Given the description of an element on the screen output the (x, y) to click on. 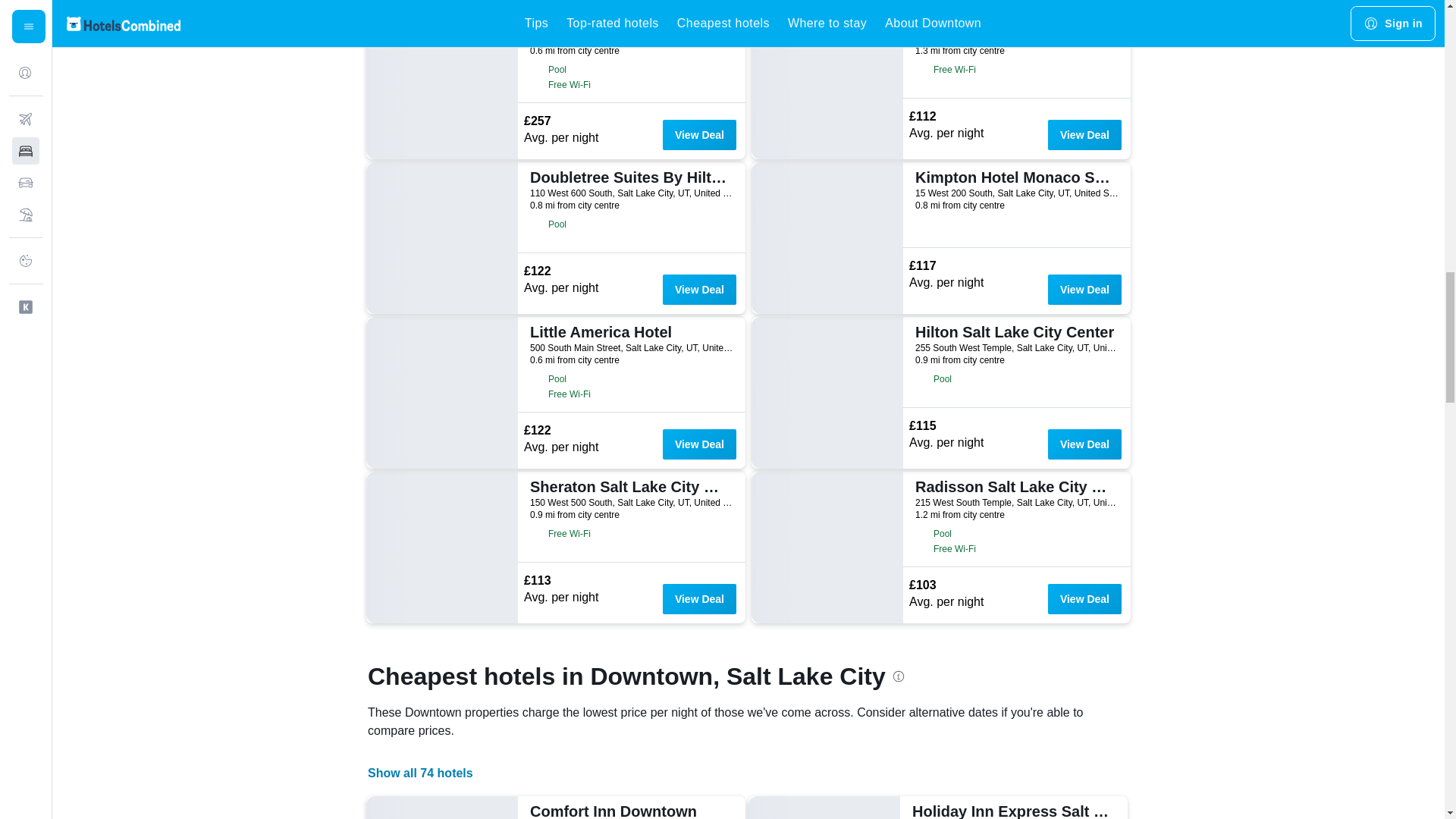
Little America Hotel (629, 331)
View Deal (699, 289)
View Deal (699, 444)
View Deal (1084, 134)
Homewood Suites by Hilton Salt Lake City-Downtown (1015, 22)
Doubletree Suites By Hilton Hotel Salt Lake City (629, 177)
Kimpton Hotel Monaco Salt Lake City (1015, 177)
View Deal (1084, 289)
View Deal (699, 134)
Grand America Hotel (629, 22)
